Given the description of an element on the screen output the (x, y) to click on. 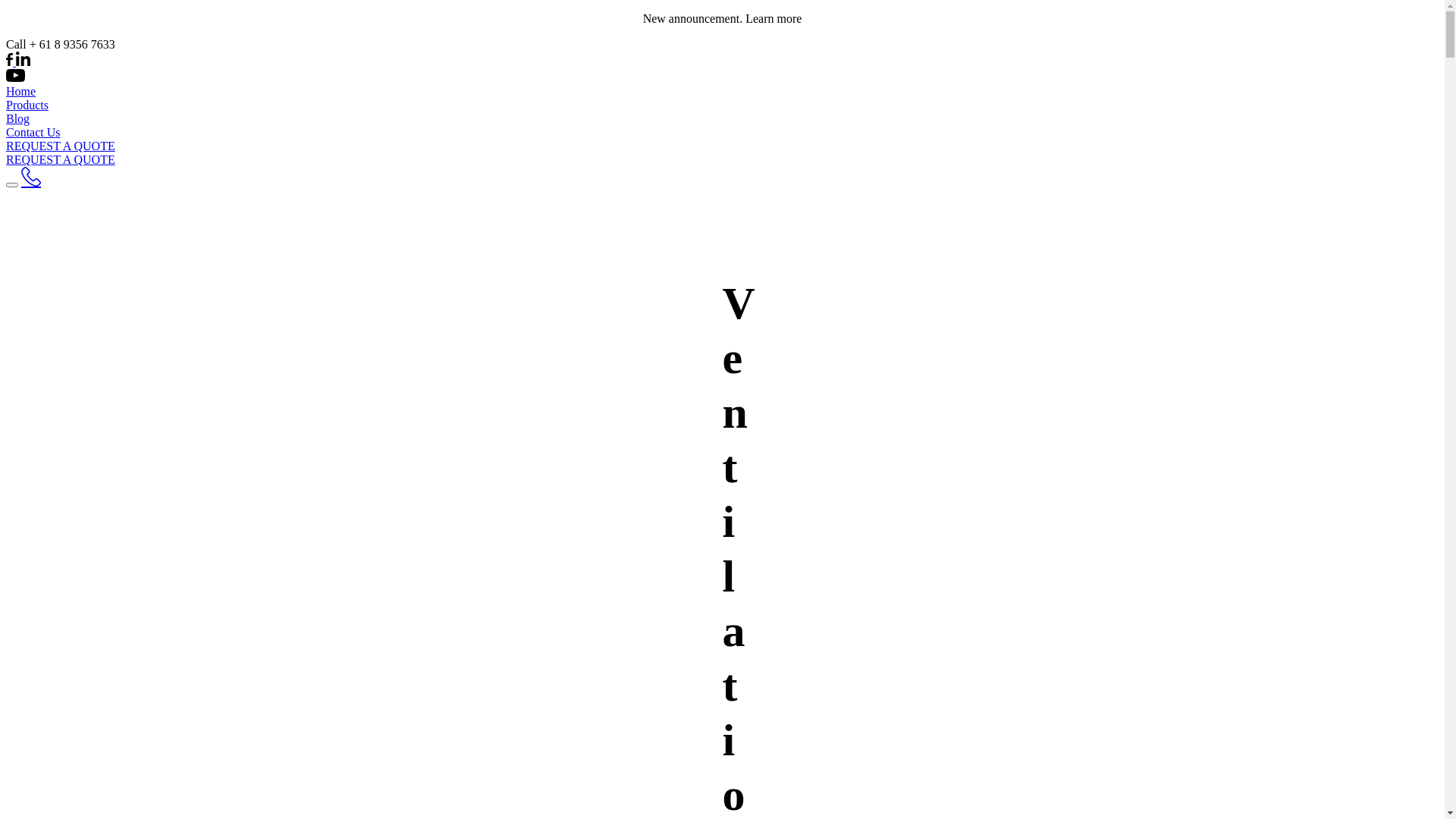
A link to this website's Facebook. Element type: hover (9, 61)
A link to this website's LinkedIn. Element type: hover (21, 61)
REQUEST A QUOTE Element type: text (60, 159)
Contact Us Element type: text (33, 131)
Products Element type: text (27, 104)
REQUEST A QUOTE Element type: text (60, 145)
A link to this website's Youtube. Element type: hover (15, 77)
Home Element type: text (20, 90)
Blog Element type: text (17, 118)
